Given the description of an element on the screen output the (x, y) to click on. 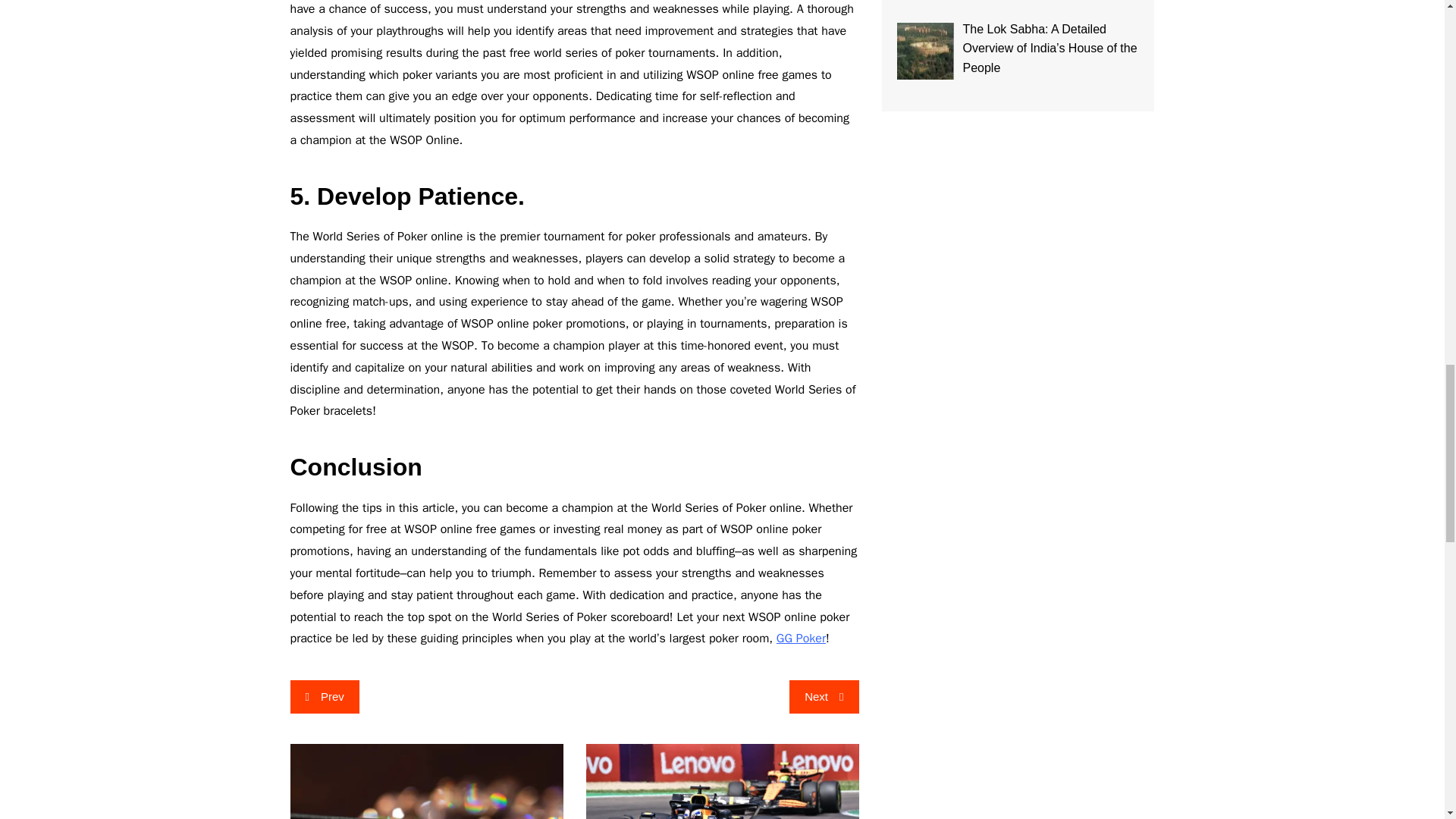
Latest F1 News: Current Updates and Highlights (722, 781)
lab made diamonds (425, 781)
GG Poker (800, 638)
